Given the description of an element on the screen output the (x, y) to click on. 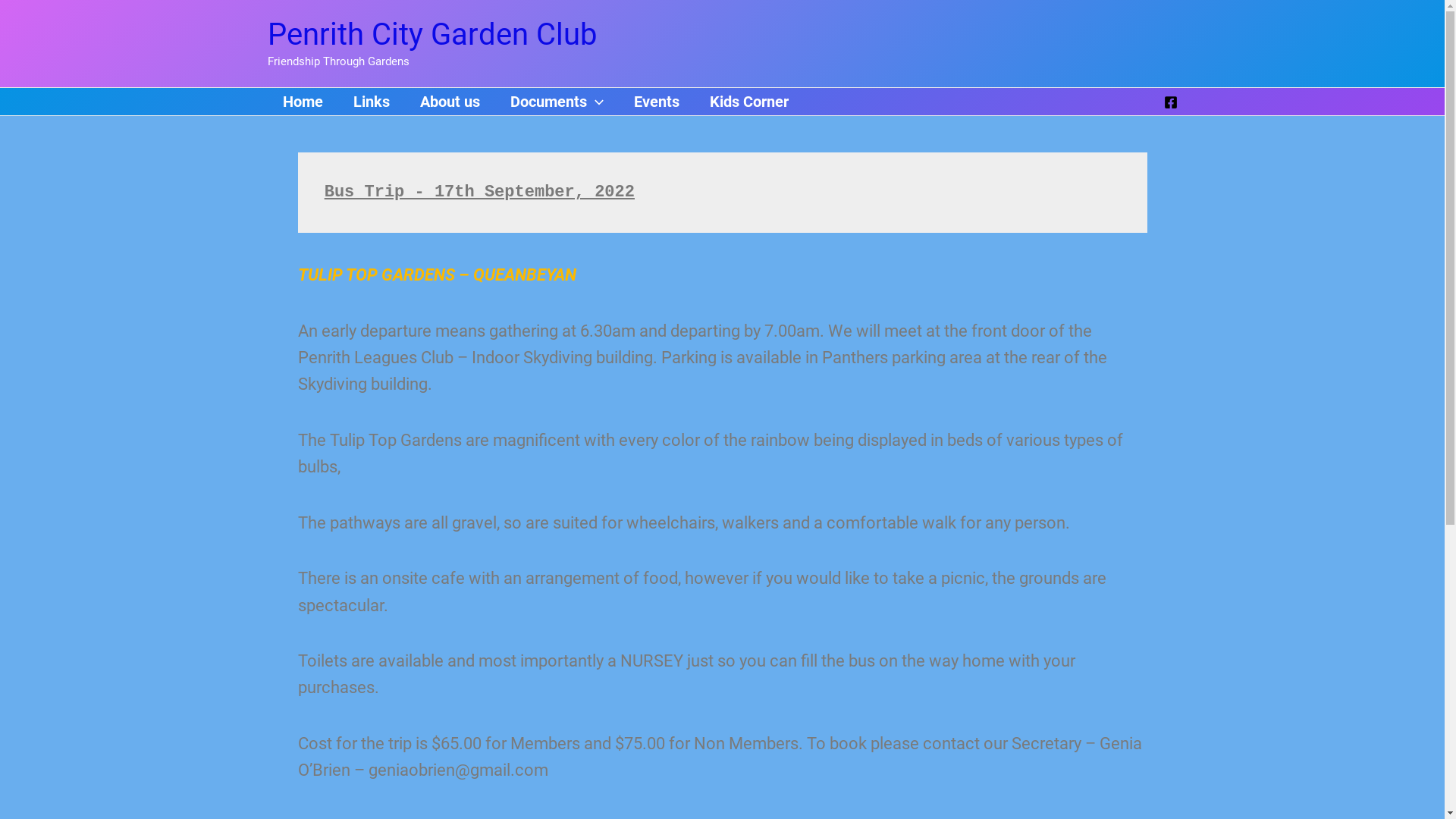
Kids Corner Element type: text (748, 100)
Documents Element type: text (556, 100)
Penrith City Garden Club Element type: text (431, 34)
Home Element type: text (301, 100)
About us Element type: text (449, 100)
Events Element type: text (656, 100)
Links Element type: text (371, 100)
